Given the description of an element on the screen output the (x, y) to click on. 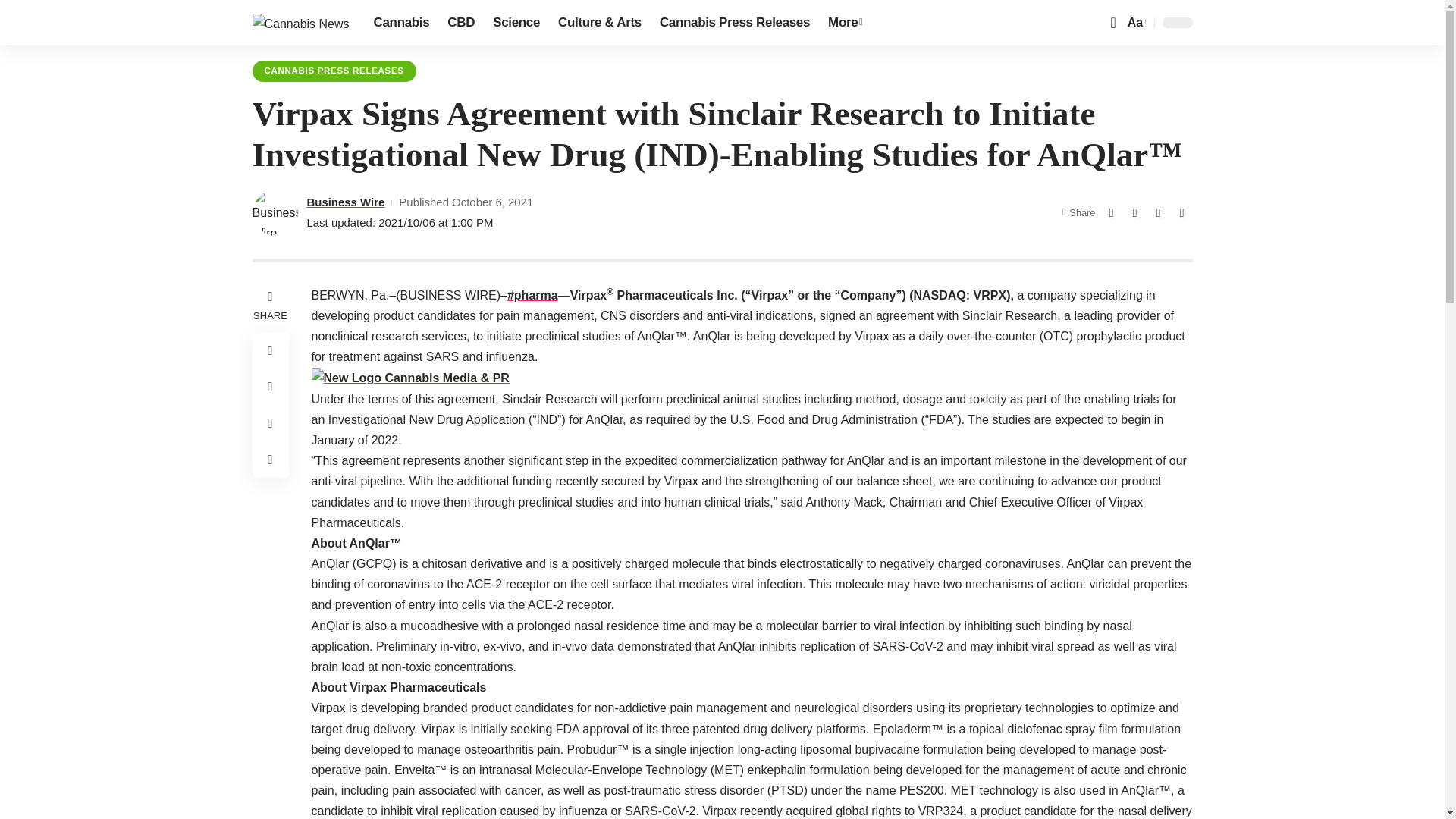
Cannabis Press Releases (734, 22)
More (845, 22)
Aa (1135, 22)
CBD (460, 22)
Science (515, 22)
Cannabis News (300, 22)
Cannabis (402, 22)
